Given the description of an element on the screen output the (x, y) to click on. 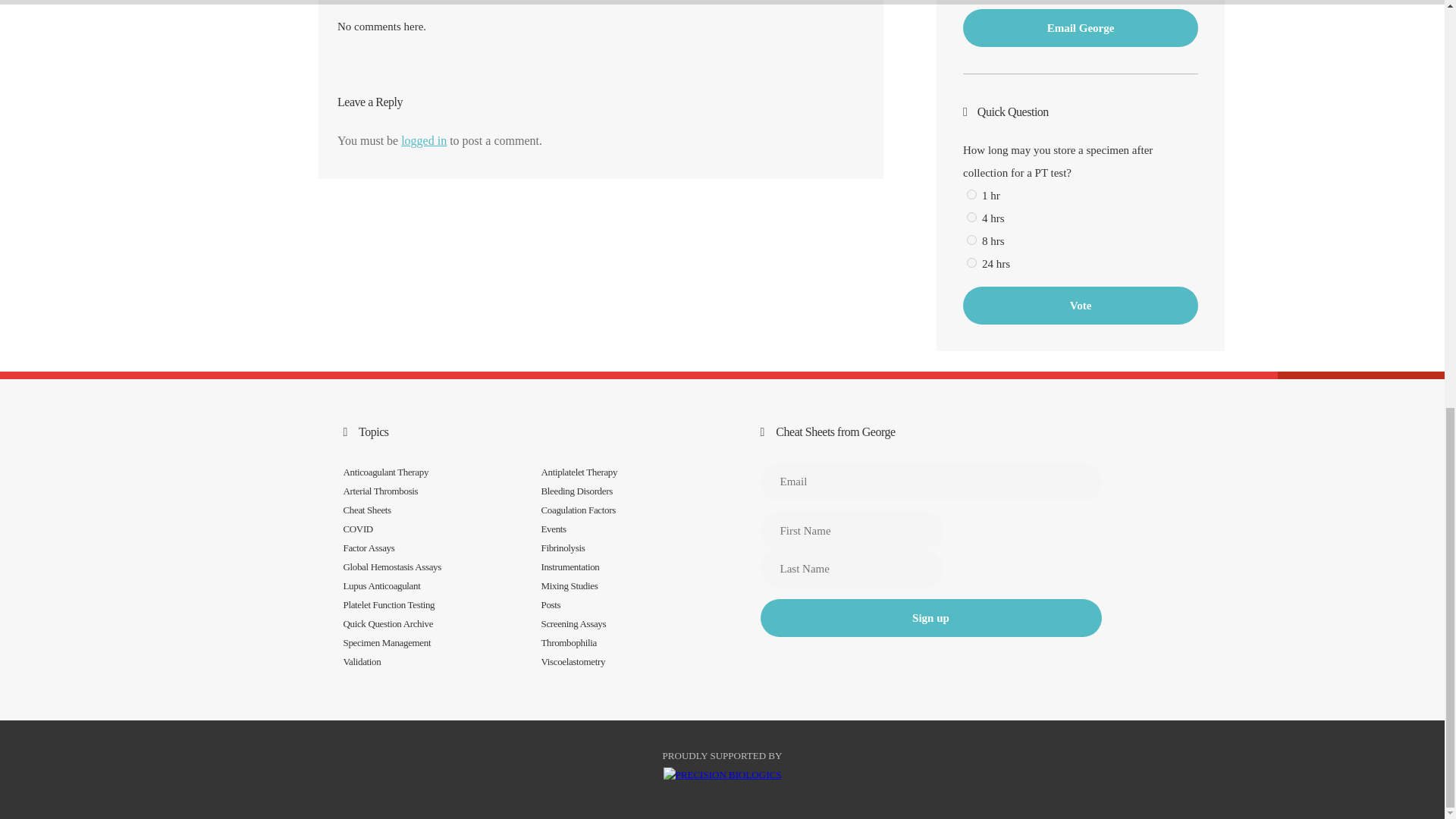
Factor Assays (368, 547)
Platelet Function Testing (387, 604)
Coagulation Factors (578, 509)
Cheat Sheets (366, 509)
Email George (1080, 27)
Posts (550, 604)
Events (553, 528)
Vote (1080, 305)
Instrumentation (570, 566)
Sign up (930, 617)
Global Hemostasis Assays (391, 566)
Anticoagulant Therapy (385, 471)
1 hr (971, 194)
24 hrs (971, 262)
Antiplatelet Therapy (579, 471)
